Given the description of an element on the screen output the (x, y) to click on. 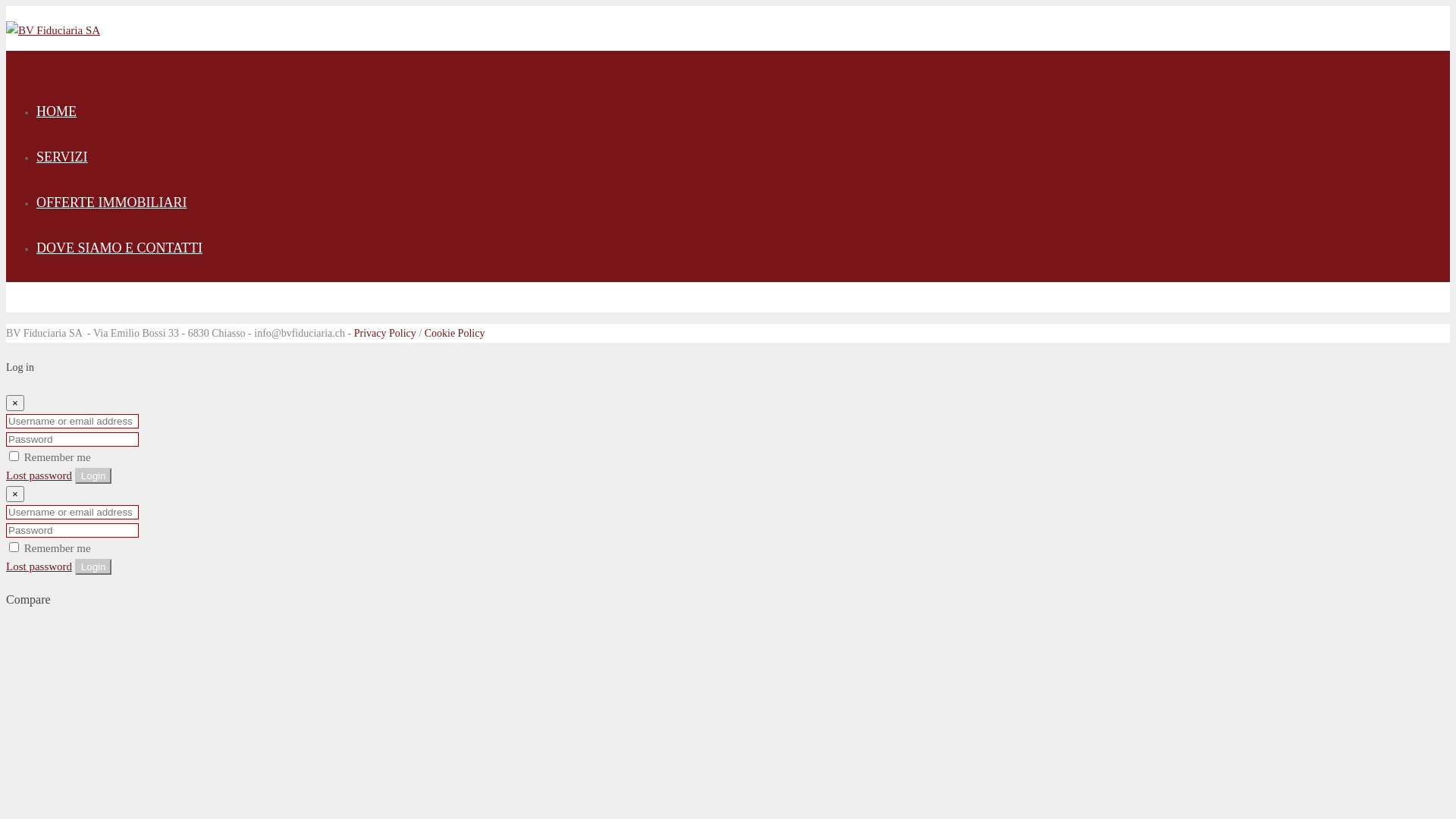
Lost password Element type: text (39, 566)
BV Fiduciaria SA Element type: hover (53, 30)
OFFERTE IMMOBILIARI Element type: text (111, 205)
DOVE SIAMO E CONTATTI Element type: text (119, 251)
Login Element type: text (93, 566)
Lost password Element type: text (39, 475)
Cookie Policy Element type: text (454, 332)
Login Element type: text (93, 475)
SERVIZI Element type: text (61, 160)
HOME Element type: text (56, 114)
Privacy Policy Element type: text (385, 332)
